Given the description of an element on the screen output the (x, y) to click on. 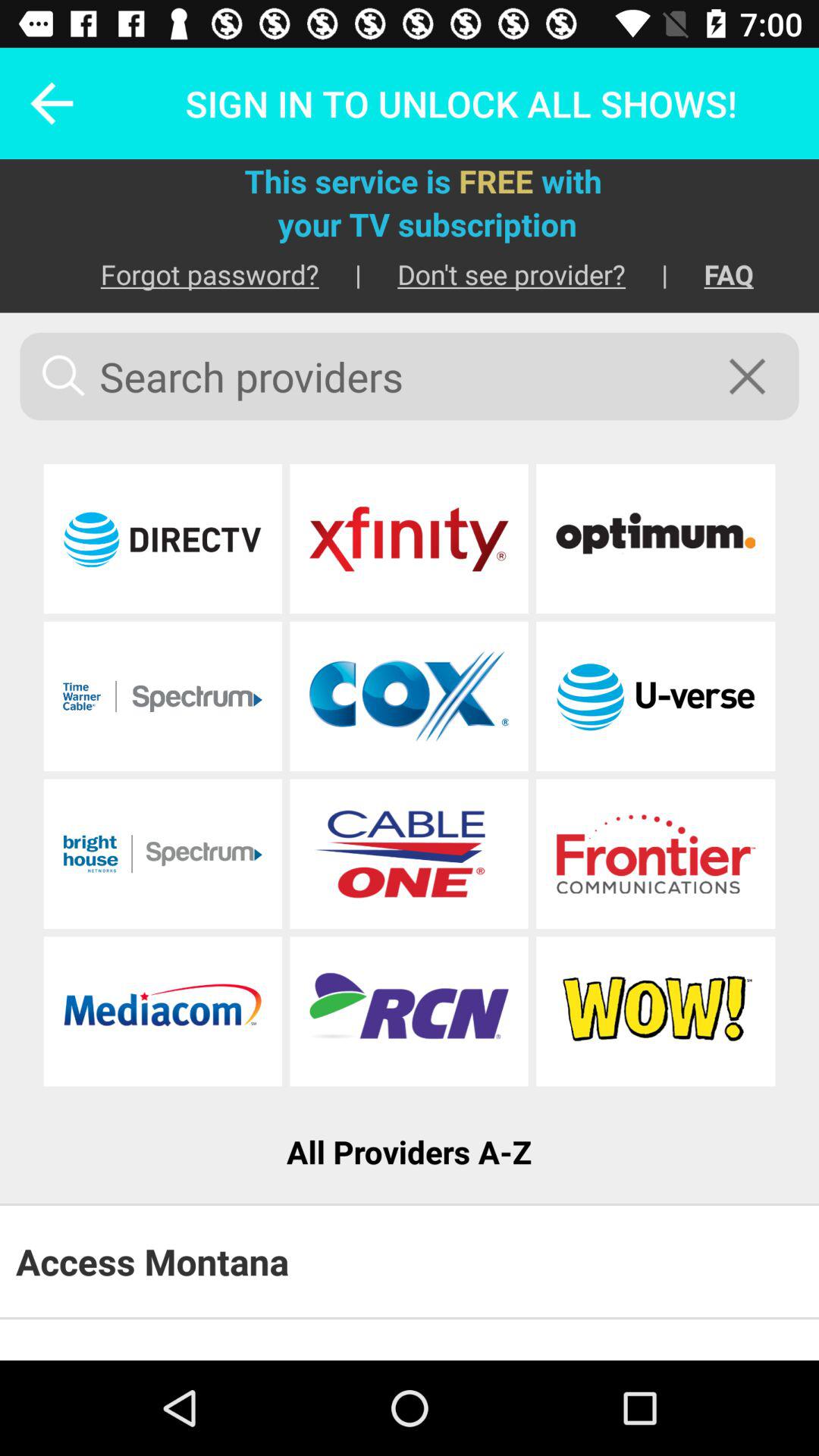
turn on the item below the your tv subscription icon (710, 273)
